Given the description of an element on the screen output the (x, y) to click on. 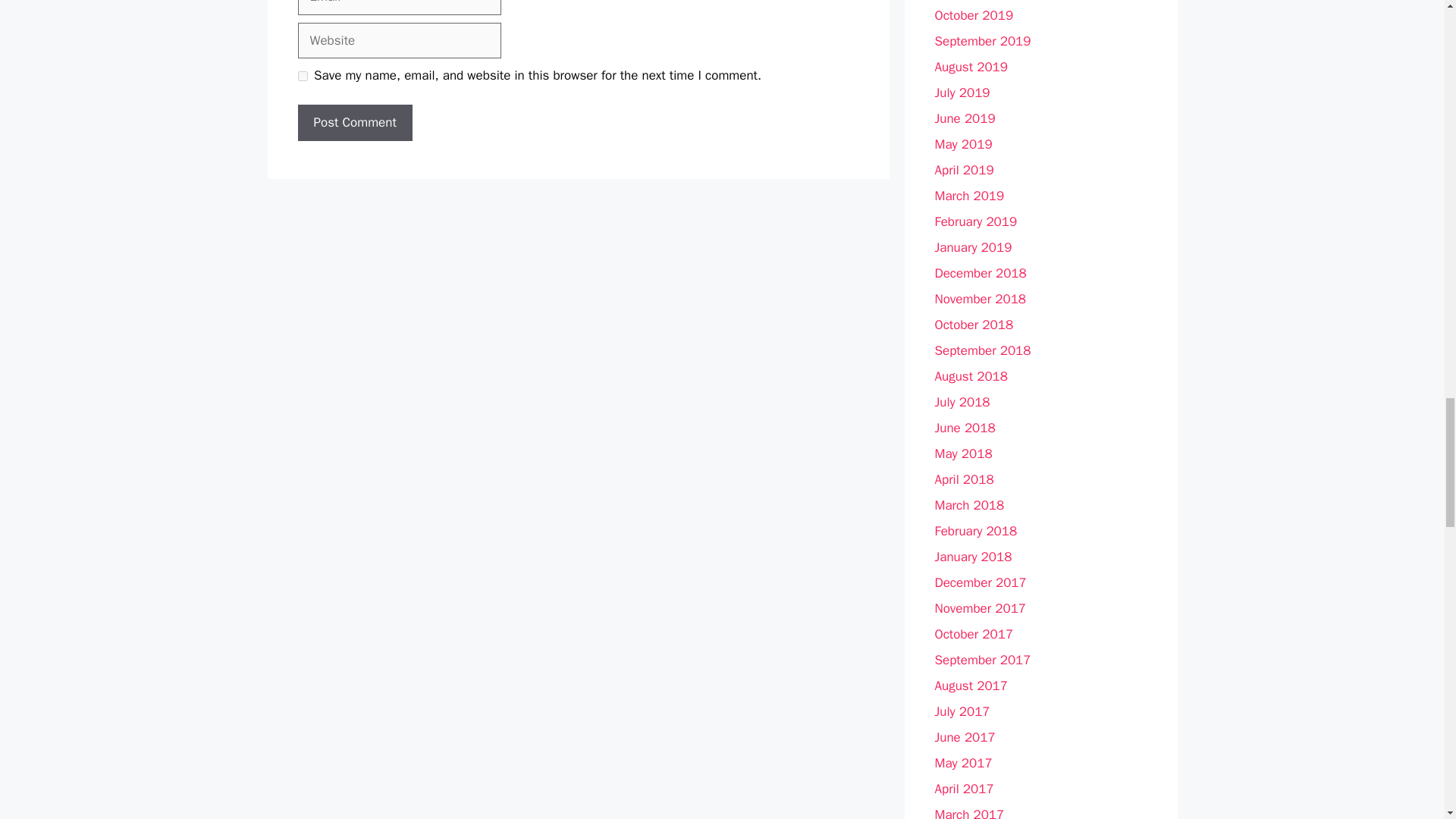
Post Comment (354, 122)
Post Comment (354, 122)
yes (302, 76)
